Given the description of an element on the screen output the (x, y) to click on. 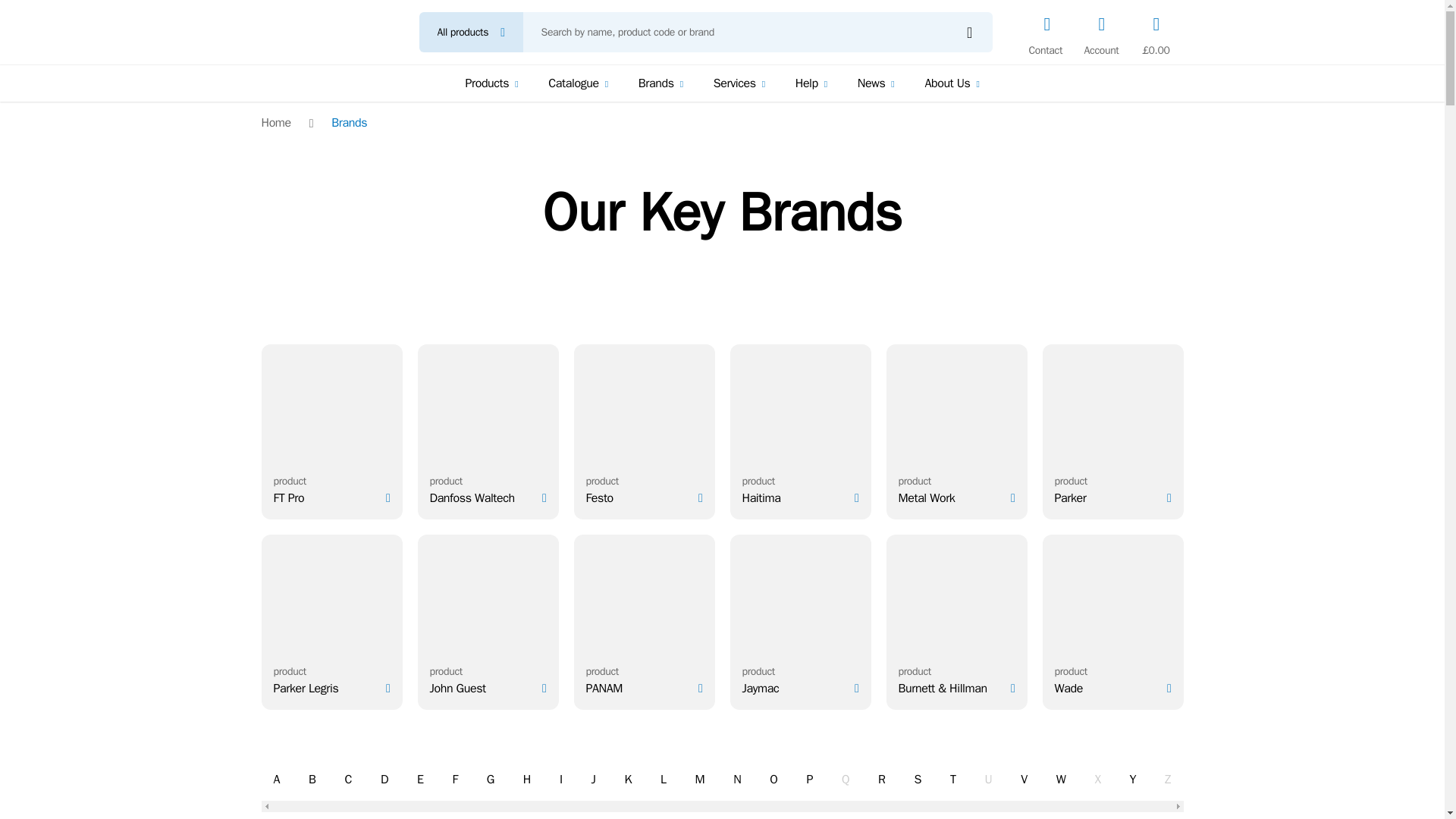
Parker Legris (331, 688)
John Guest (487, 688)
Parker (1112, 497)
Home (274, 122)
News (721, 785)
Danfoss Waltech (876, 83)
Catalogue (487, 497)
All products (577, 83)
Brands (470, 32)
Contact (348, 122)
FT Pro (1045, 61)
Products (331, 497)
Festo (490, 83)
Services (643, 497)
